Given the description of an element on the screen output the (x, y) to click on. 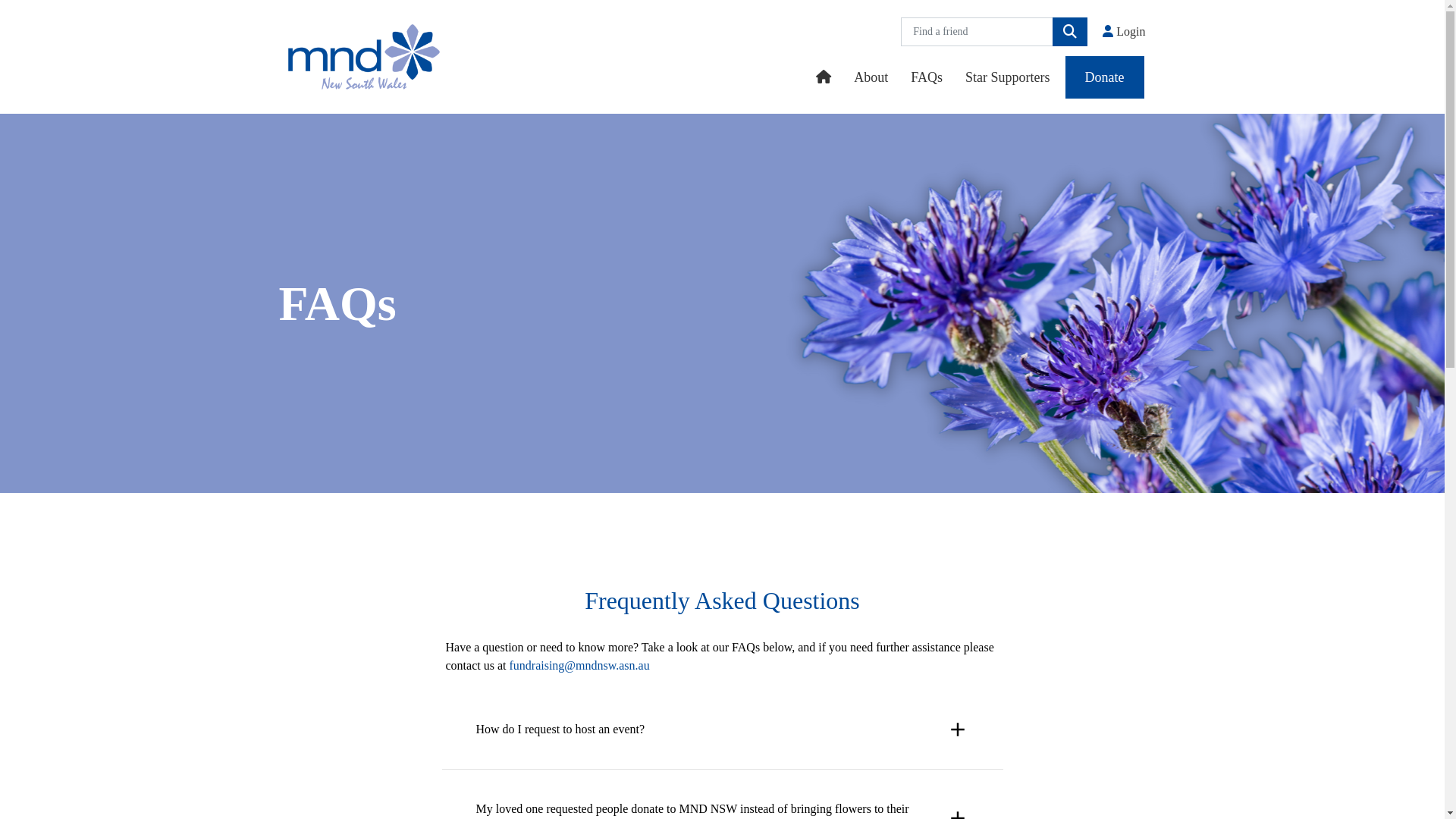
Login Element type: text (1123, 31)
Star Supporters Element type: text (1007, 76)
About Element type: text (870, 76)
fundraising@mndnsw.asn.au Element type: text (578, 664)
FAQs Element type: text (926, 76)
Donate Element type: text (1104, 77)
